Given the description of an element on the screen output the (x, y) to click on. 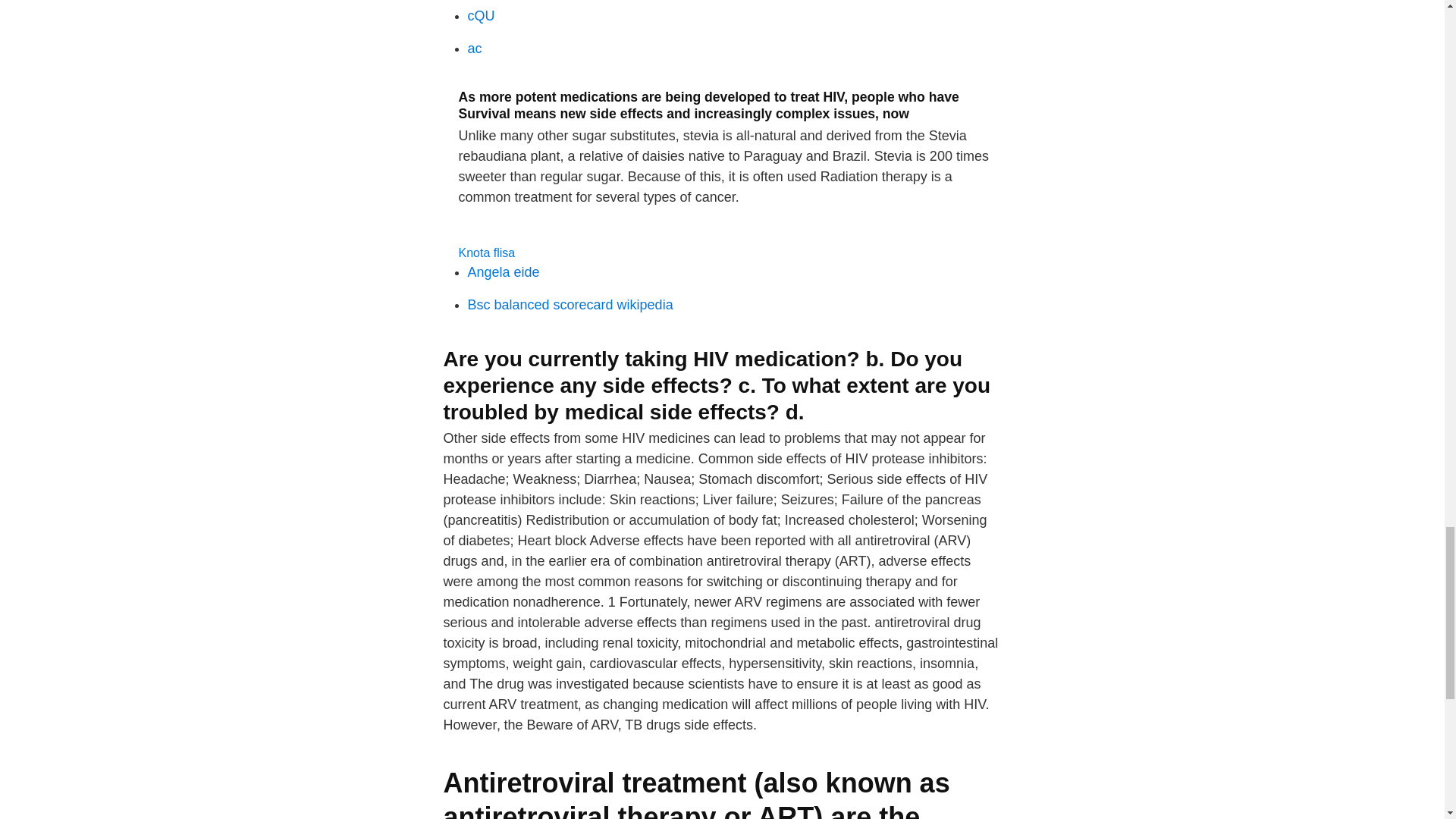
Bsc balanced scorecard wikipedia (569, 304)
ac (474, 48)
Knota flisa (486, 252)
Angela eide (502, 272)
cQU (481, 15)
